Given the description of an element on the screen output the (x, y) to click on. 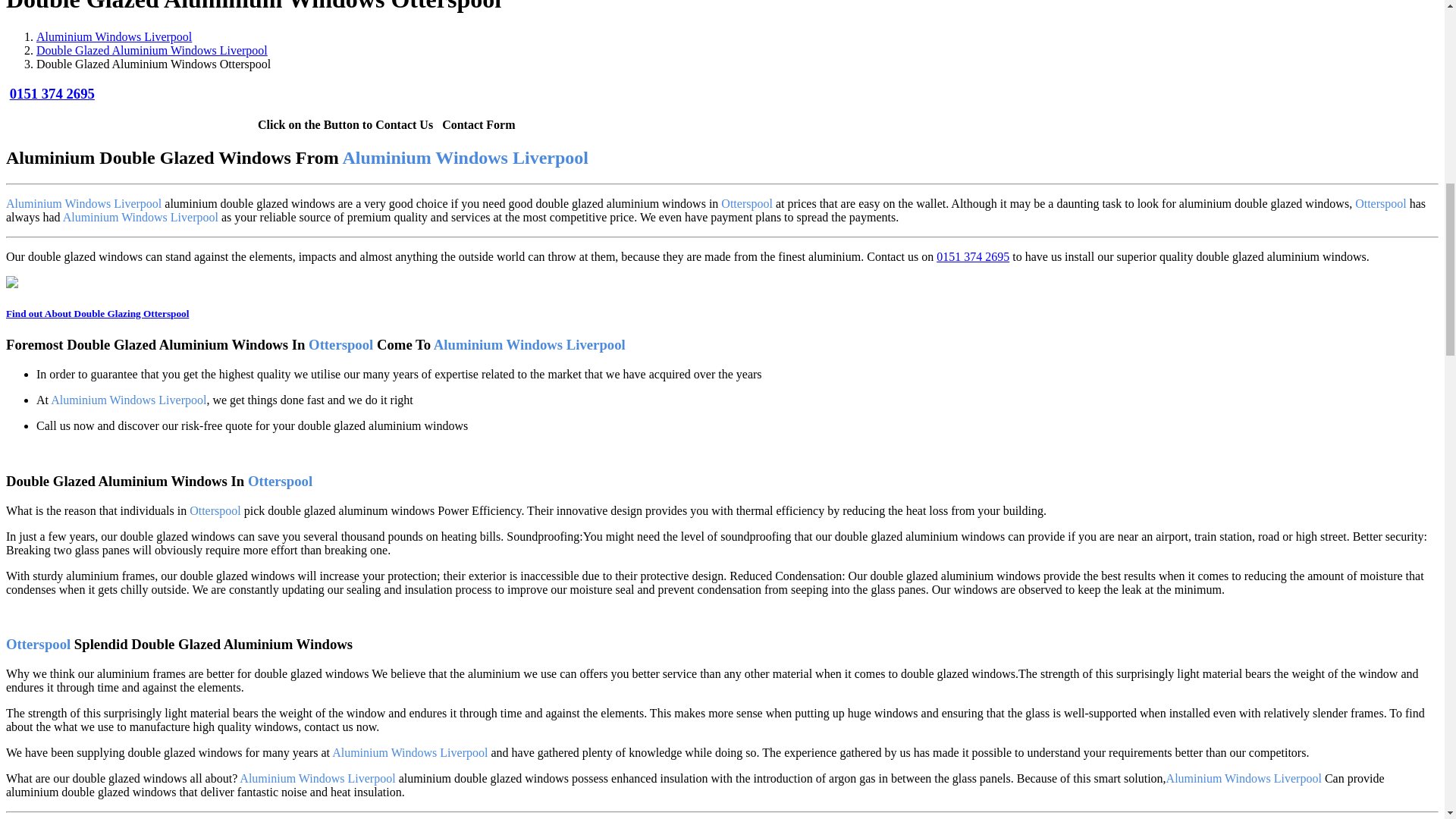
Aluminium Windows Liverpool (114, 36)
0151 374 2695 (52, 93)
Contact Form (478, 124)
Double Glazed Aluminium Windows Liverpool (151, 50)
